Given the description of an element on the screen output the (x, y) to click on. 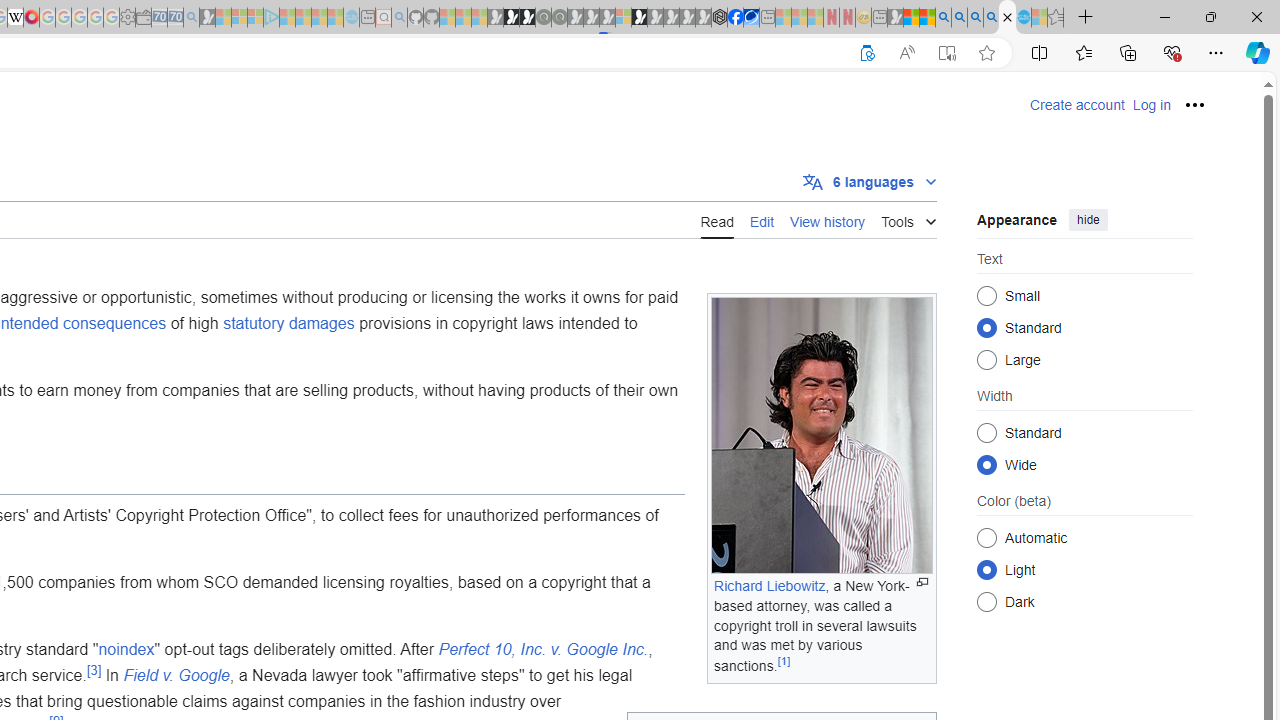
Favorites - Sleeping (1055, 17)
noindex (126, 649)
Edit (761, 219)
Create account (1077, 105)
Play Zoo Boom in your browser | Games from Microsoft Start (511, 17)
View history (827, 219)
View history (827, 219)
